Given the description of an element on the screen output the (x, y) to click on. 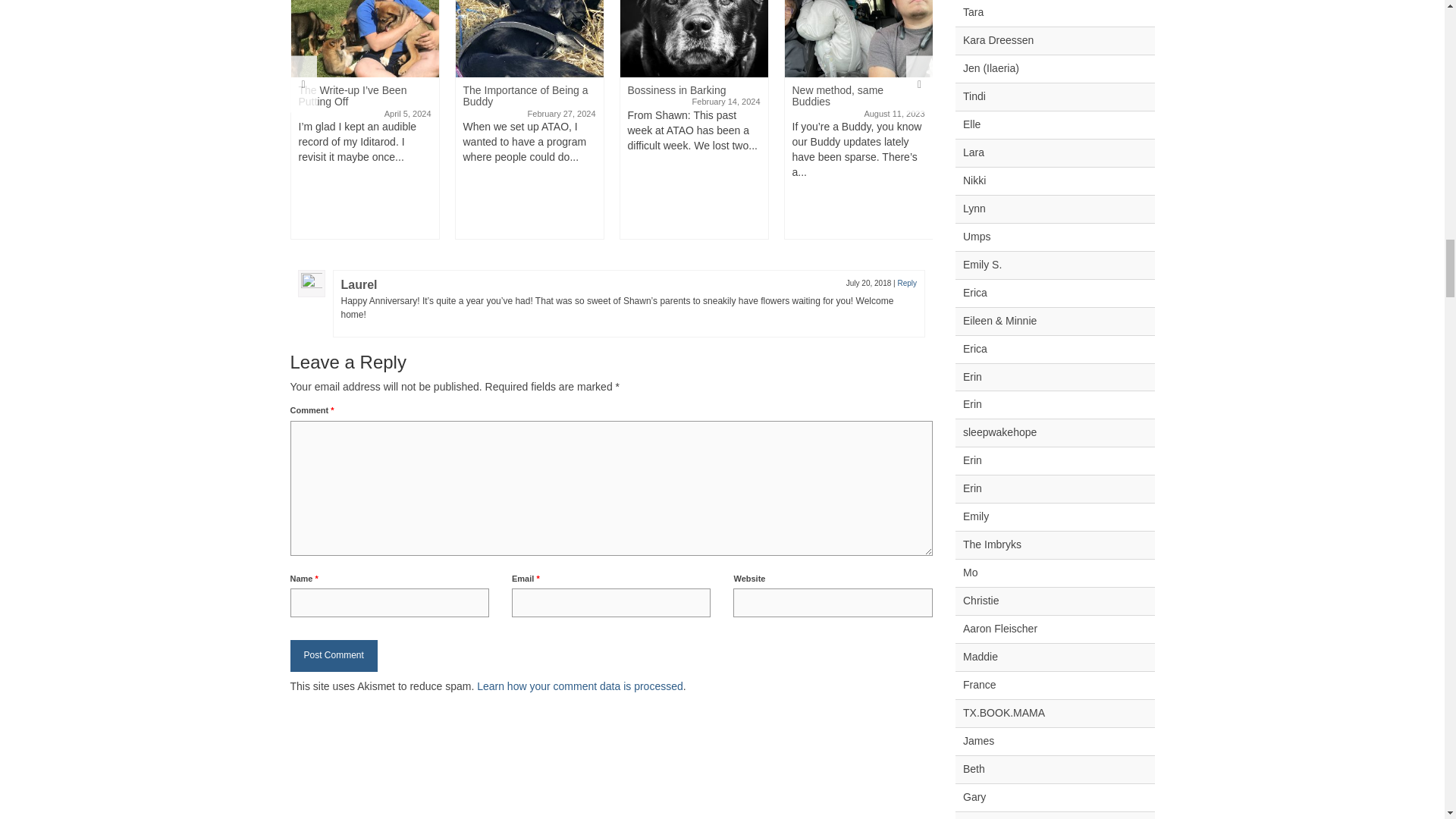
The Importance of Being a Buddy (528, 38)
New method, same Buddies (857, 38)
Post Comment (333, 654)
Bossiness in Barking (694, 38)
